Given the description of an element on the screen output the (x, y) to click on. 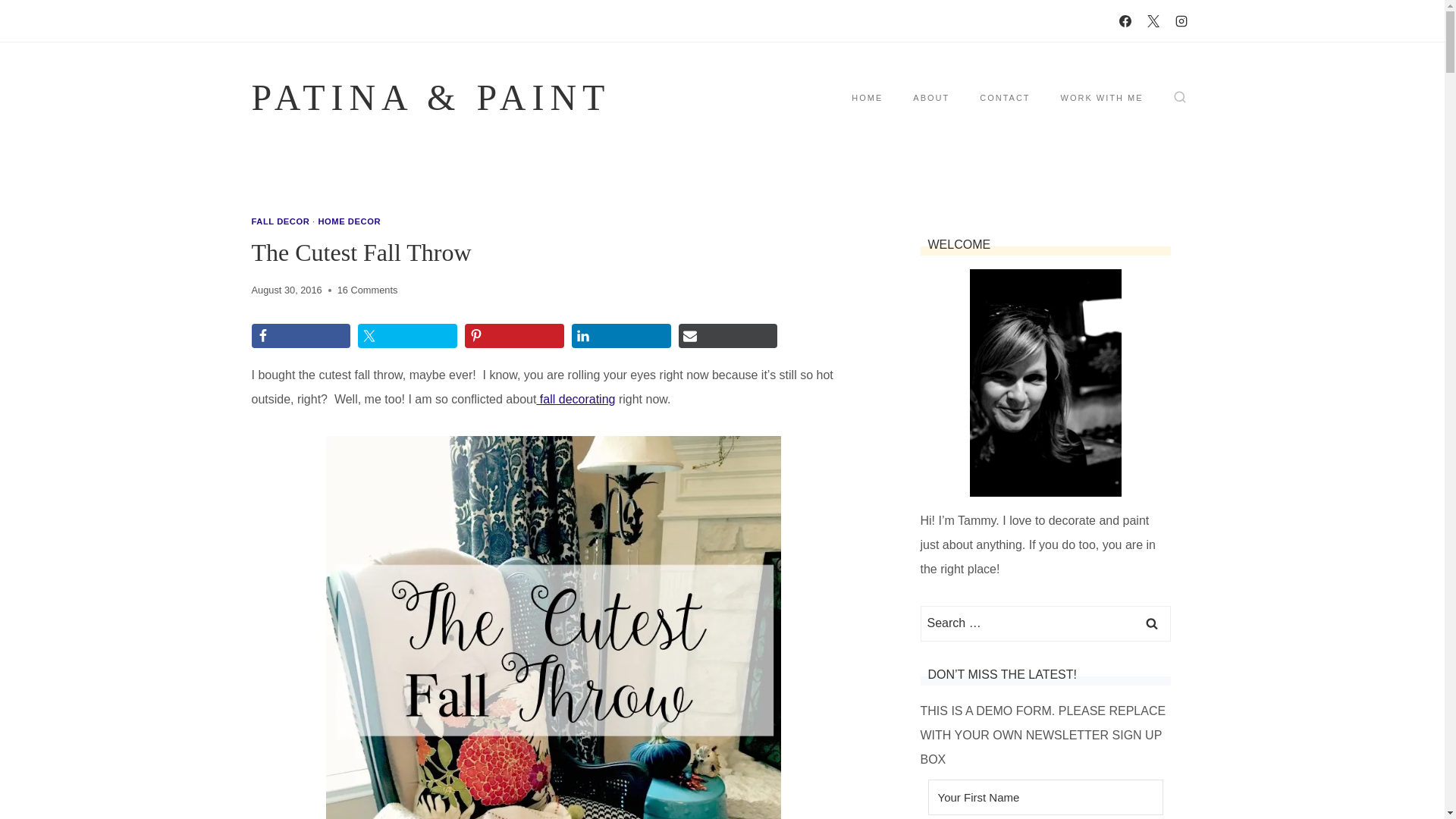
16 Comments (367, 290)
Search (1151, 623)
Share on Pinterest (514, 335)
WORK WITH ME (1101, 97)
fall decorating (574, 399)
Share via Email (727, 335)
Share on LinkedIn (621, 335)
Share on Twitter (407, 335)
Search (1151, 623)
16 Comments (367, 290)
CONTACT (1004, 97)
ABOUT (930, 97)
HOME (866, 97)
Share on Facebook (300, 335)
HOME DECOR (348, 221)
